Given the description of an element on the screen output the (x, y) to click on. 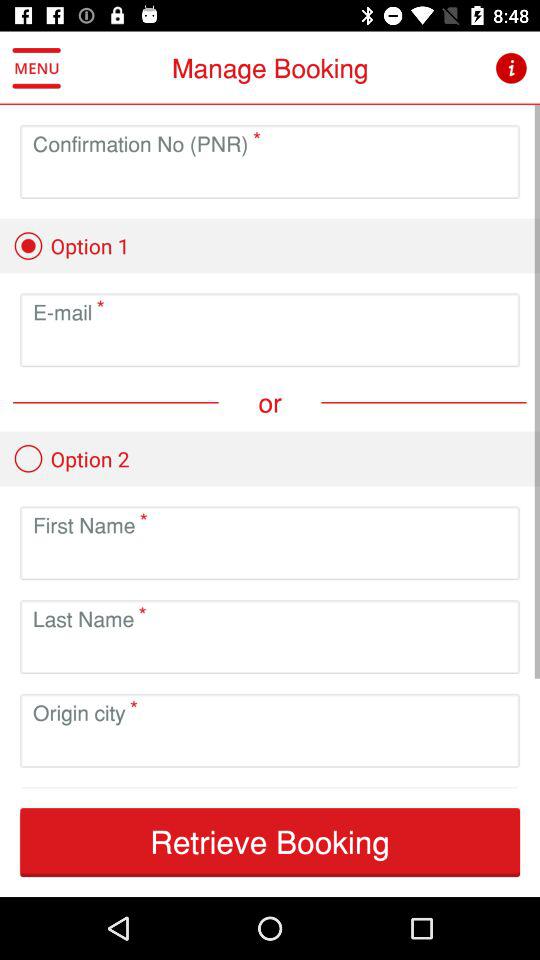
enter email address (270, 345)
